Given the description of an element on the screen output the (x, y) to click on. 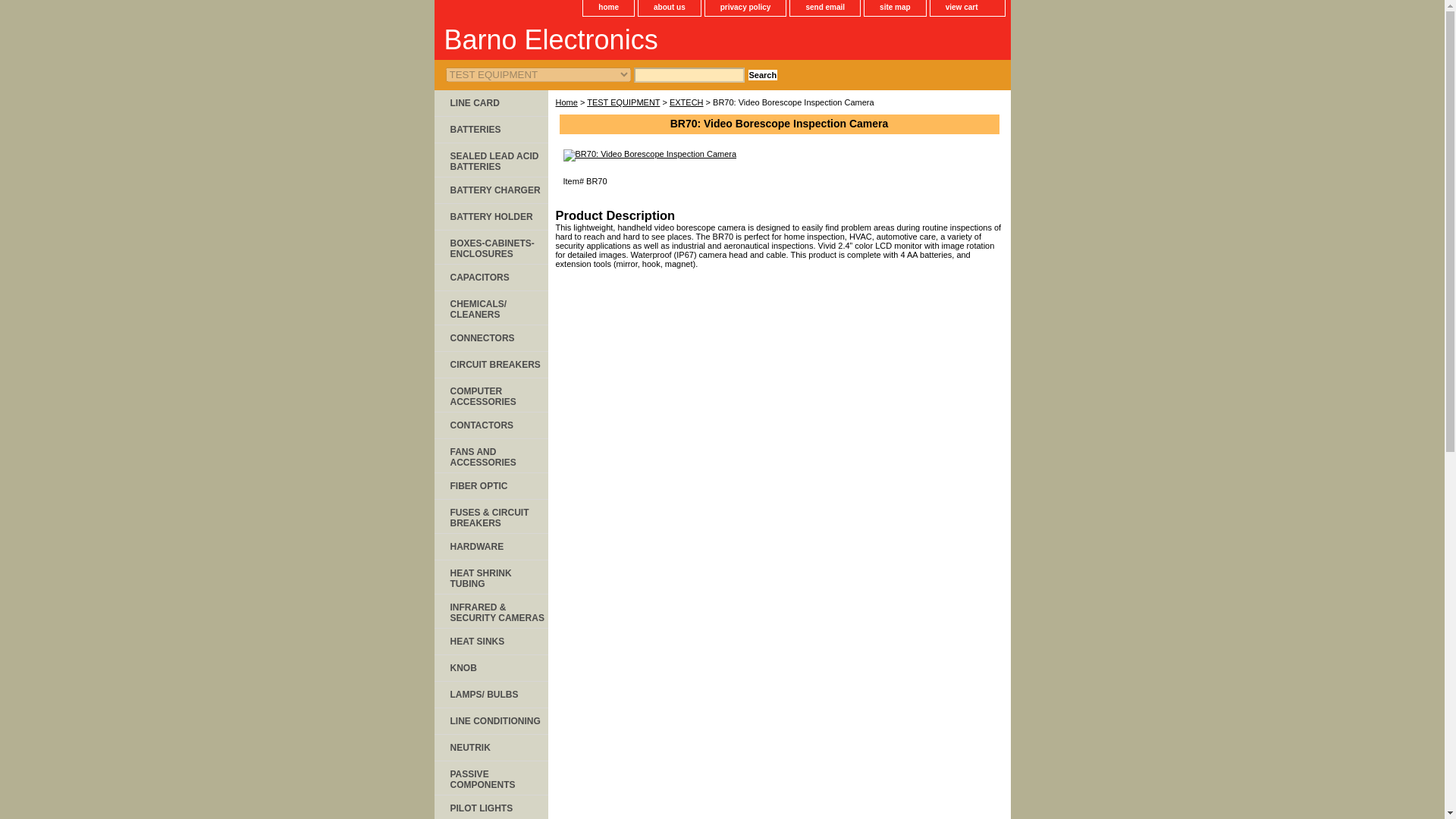
COMPUTER ACCESSORIES (490, 395)
send email (825, 7)
CAPACITORS (490, 277)
Barno Electronics (622, 41)
BOXES-CABINETS- ENCLOSURES (490, 247)
FIBER OPTIC (490, 486)
CONNECTORS (490, 338)
HEAT SINKS (490, 641)
NEUTRIK (490, 747)
Home (565, 102)
BATTERY HOLDER (490, 216)
TEST EQUIPMENT (622, 102)
privacy policy (745, 7)
EXTECH (686, 102)
HARDWARE (490, 546)
